Given the description of an element on the screen output the (x, y) to click on. 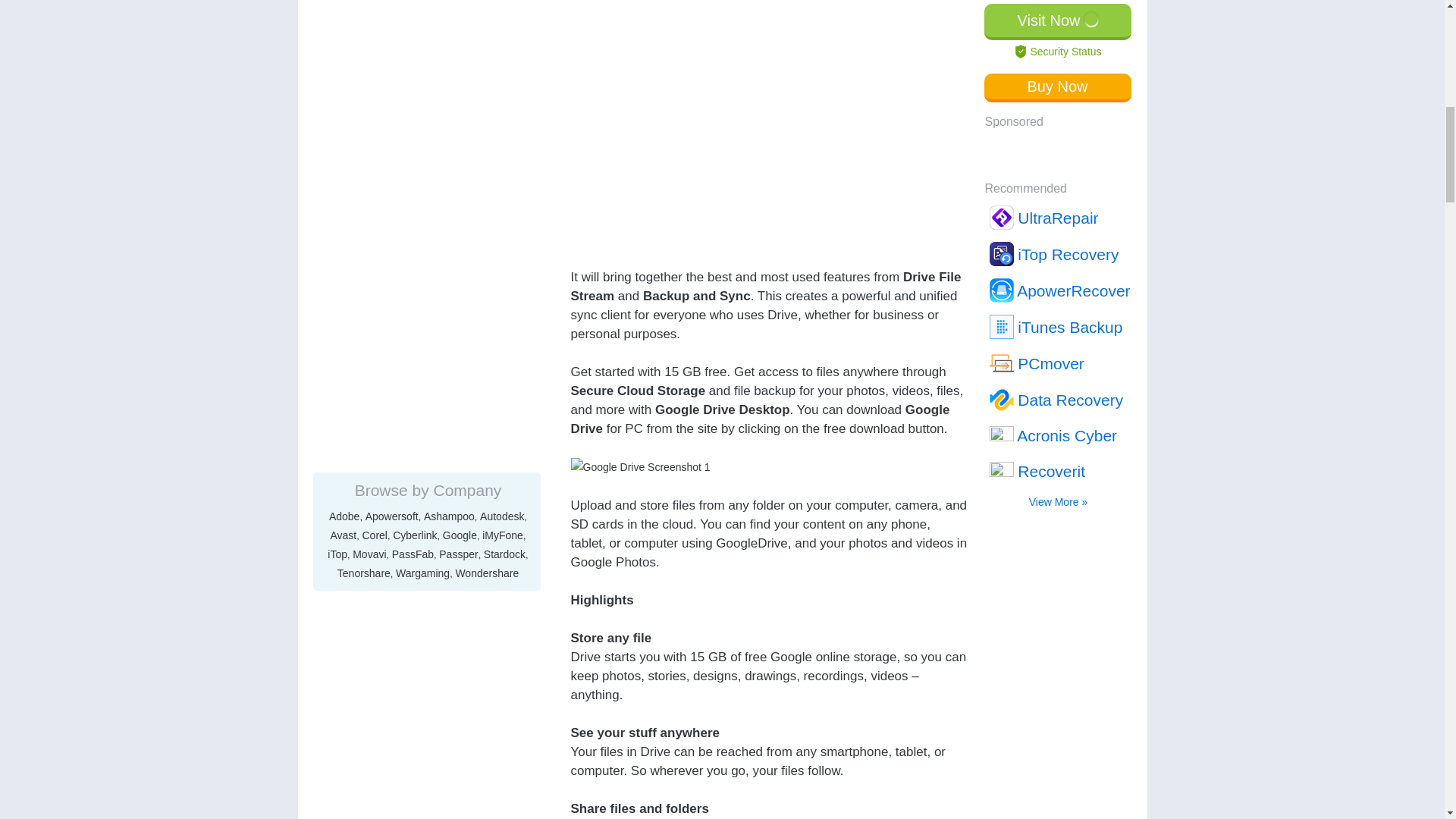
Corel (374, 106)
Ashampoo (448, 87)
Avast (343, 106)
Stardock (504, 125)
Tenorshare (363, 144)
Wondershare (486, 144)
Autodesk (502, 87)
Passper (458, 125)
Movavi (368, 125)
Apowersoft (392, 87)
Wargaming (422, 144)
Adobe (344, 87)
Acronis Cyber (1059, 15)
iMyFone (501, 106)
Recoverit (1059, 48)
